Given the description of an element on the screen output the (x, y) to click on. 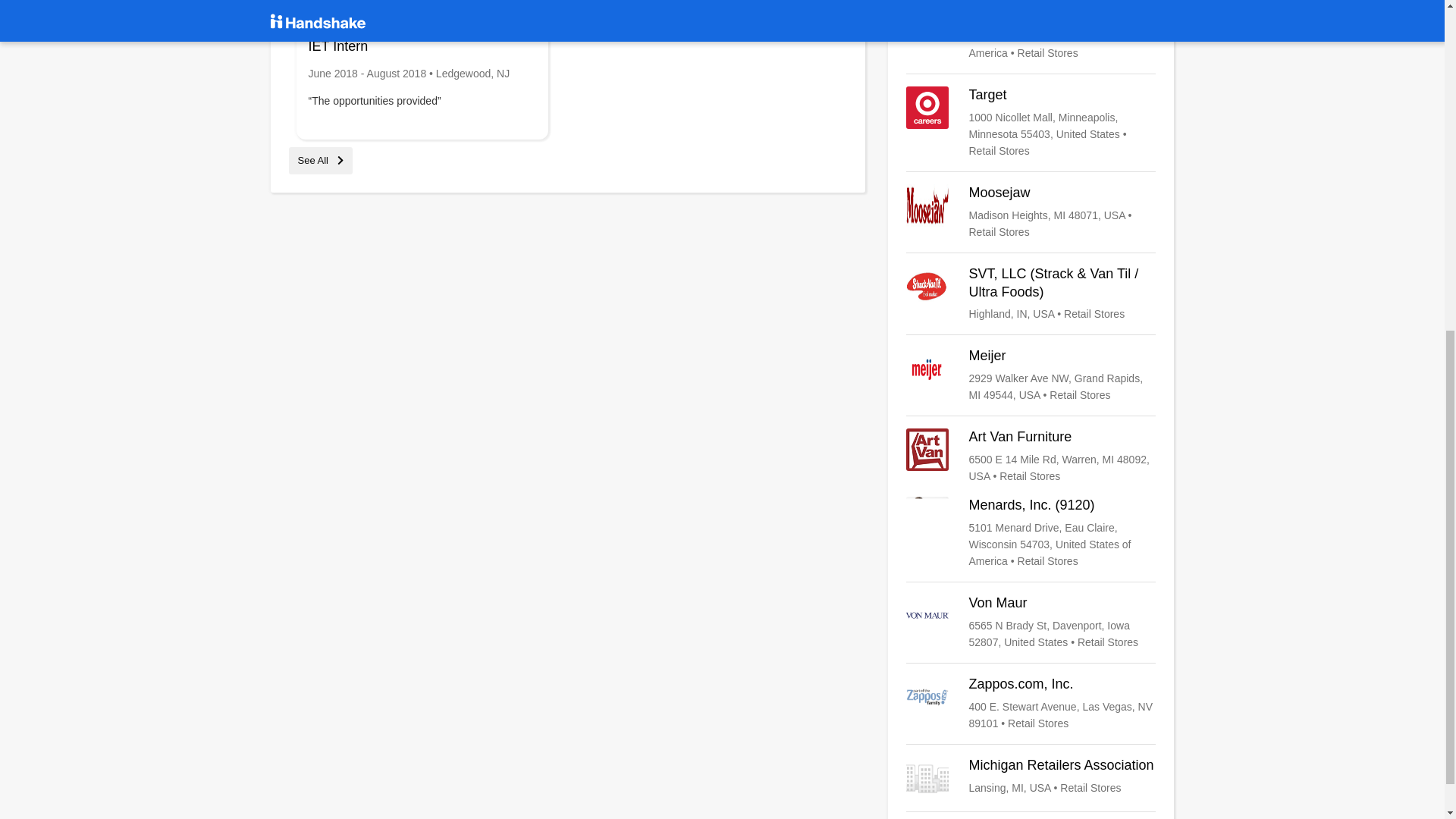
Art Van Furniture (1030, 456)
Zappos.com, Inc. (1030, 703)
See All (320, 160)
Buckle (1030, 30)
Von Maur (1030, 622)
Meijer (1030, 375)
Moosejaw (1030, 212)
Michigan Retailers Association (1030, 777)
Target (1030, 122)
